Given the description of an element on the screen output the (x, y) to click on. 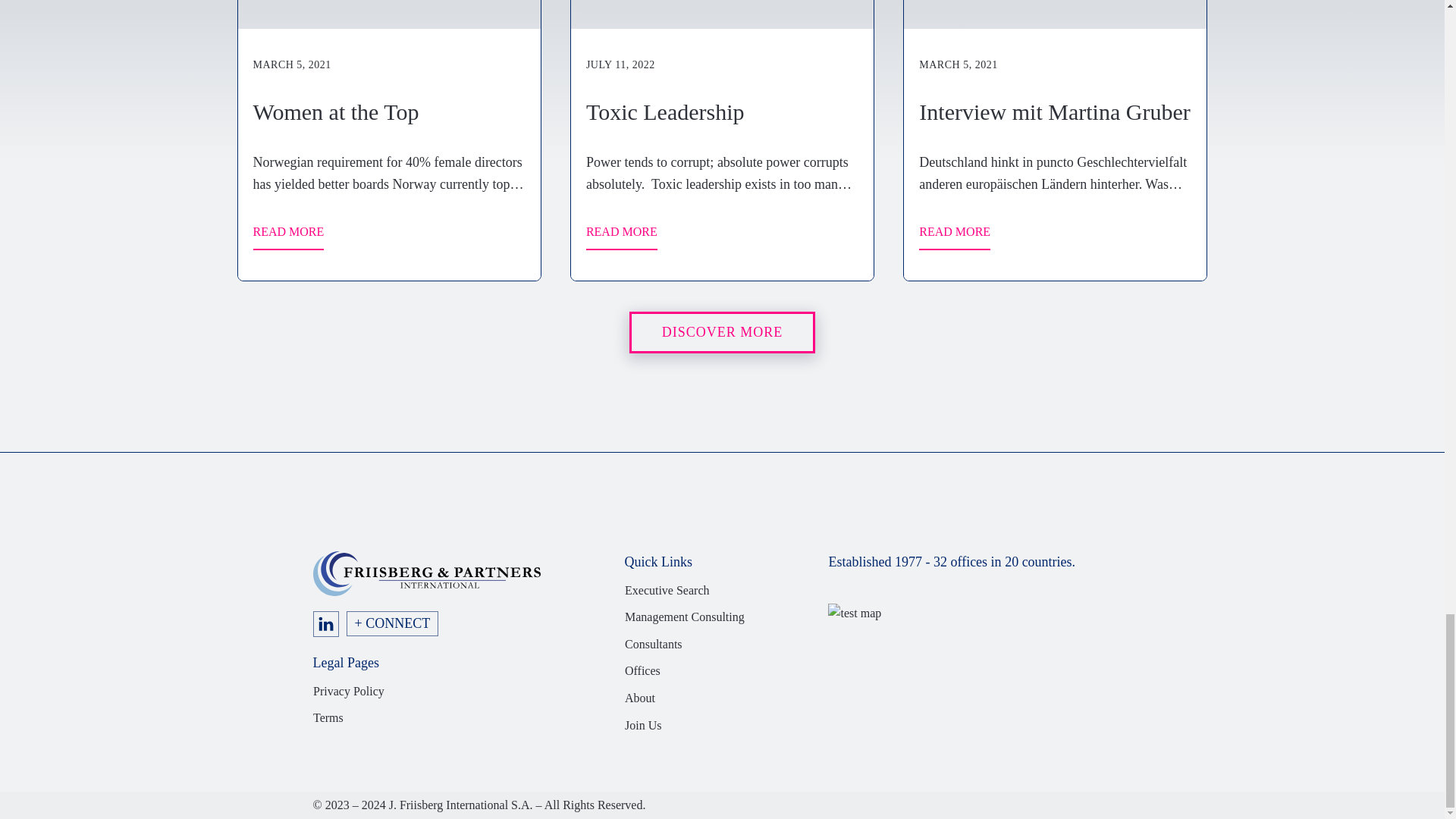
Privacy Policy (348, 691)
DISCOVER MORE (721, 332)
Executive Search (667, 590)
Terms (327, 718)
